Given the description of an element on the screen output the (x, y) to click on. 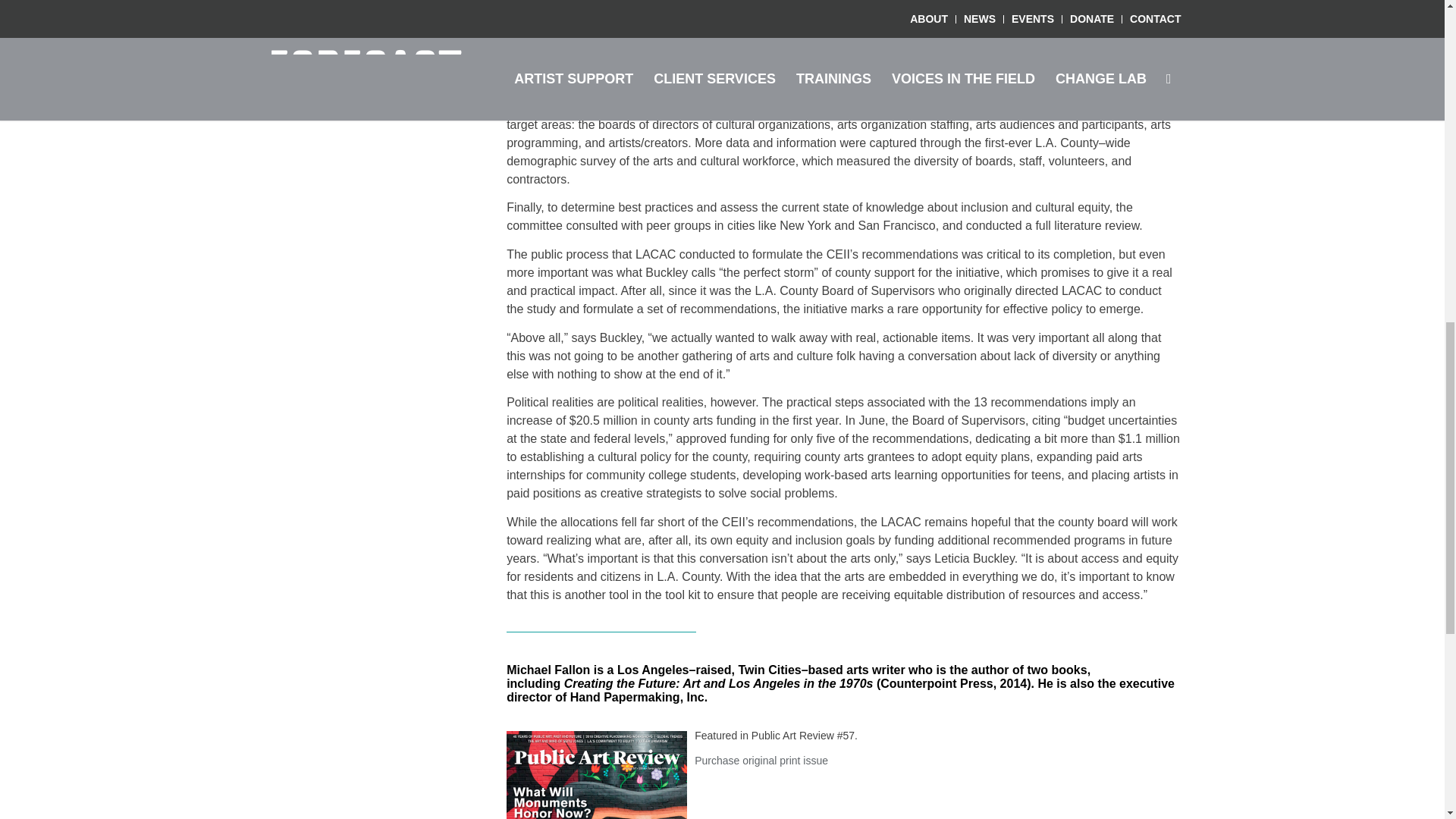
Purchase original print issue (761, 760)
Shop: Public Art Review 57 (596, 775)
